Given the description of an element on the screen output the (x, y) to click on. 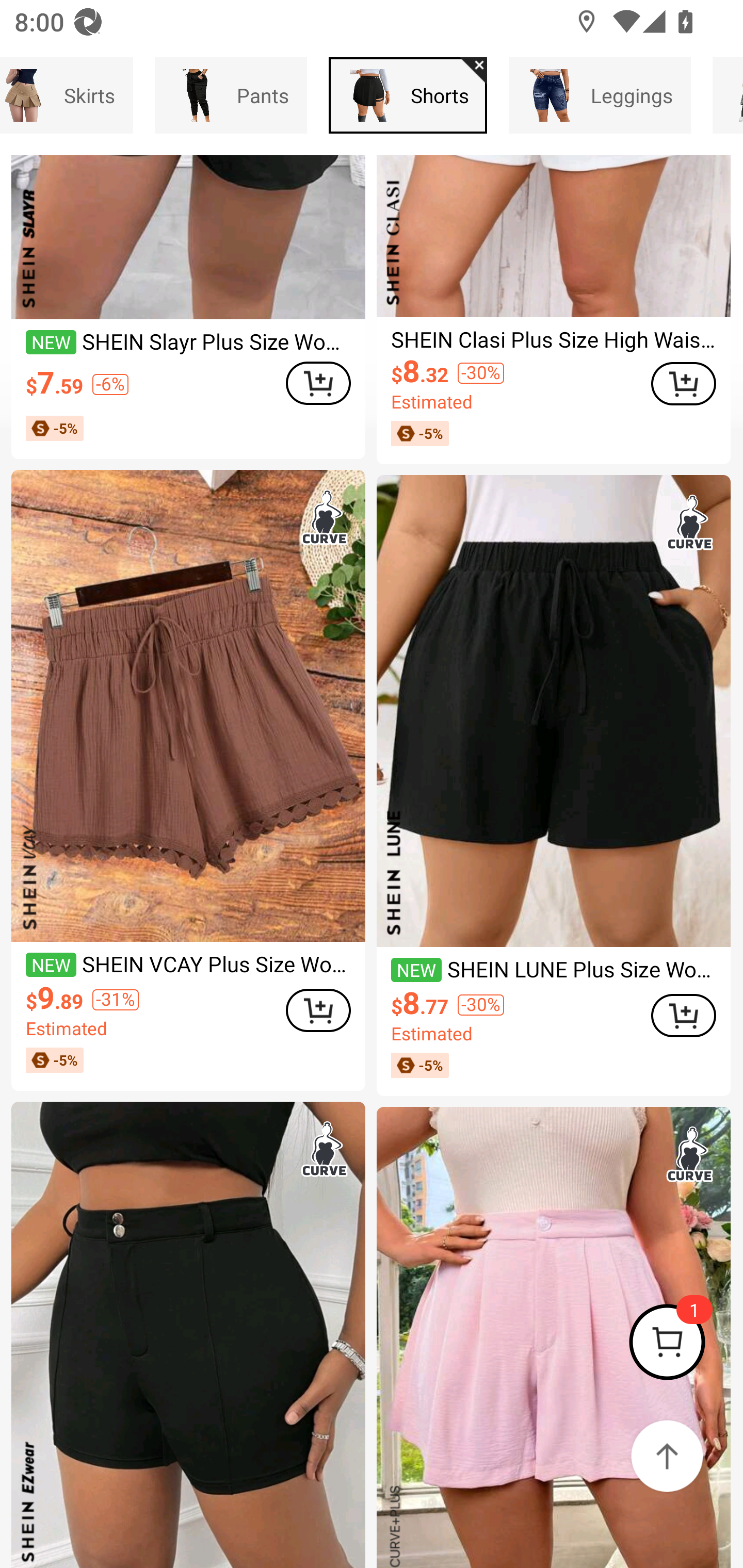
Skirts (66, 95)
Pants (230, 95)
Shorts (407, 95)
Leggings (599, 95)
ADD TO CART (318, 383)
ADD TO CART (683, 384)
ADD TO CART (318, 1010)
ADD TO CART (683, 1016)
SHEIN EZwear Plus Size Women's Solid Color Shorts (188, 1335)
Plus Size Solid Color High Waist Wide-Leg Shorts (553, 1337)
Back to top (666, 1455)
